Given the description of an element on the screen output the (x, y) to click on. 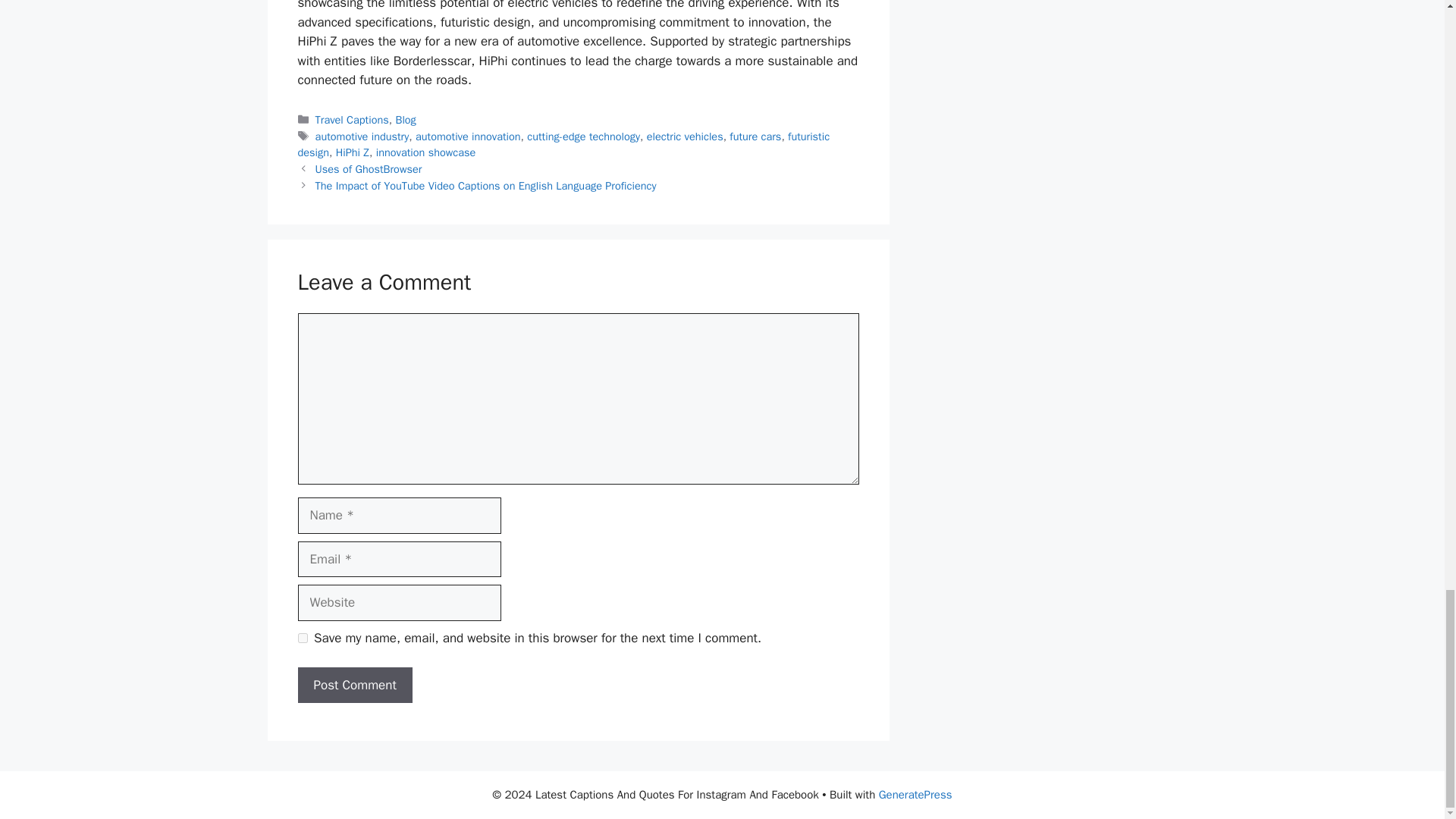
automotive innovation (467, 136)
Travel Captions (351, 119)
automotive industry (362, 136)
futuristic design (563, 144)
electric vehicles (684, 136)
HiPhi Z (352, 151)
future cars (754, 136)
innovation showcase (425, 151)
Blog (404, 119)
Uses of GhostBrowser (368, 169)
Post Comment (354, 685)
cutting-edge technology (583, 136)
Post Comment (354, 685)
yes (302, 637)
